Given the description of an element on the screen output the (x, y) to click on. 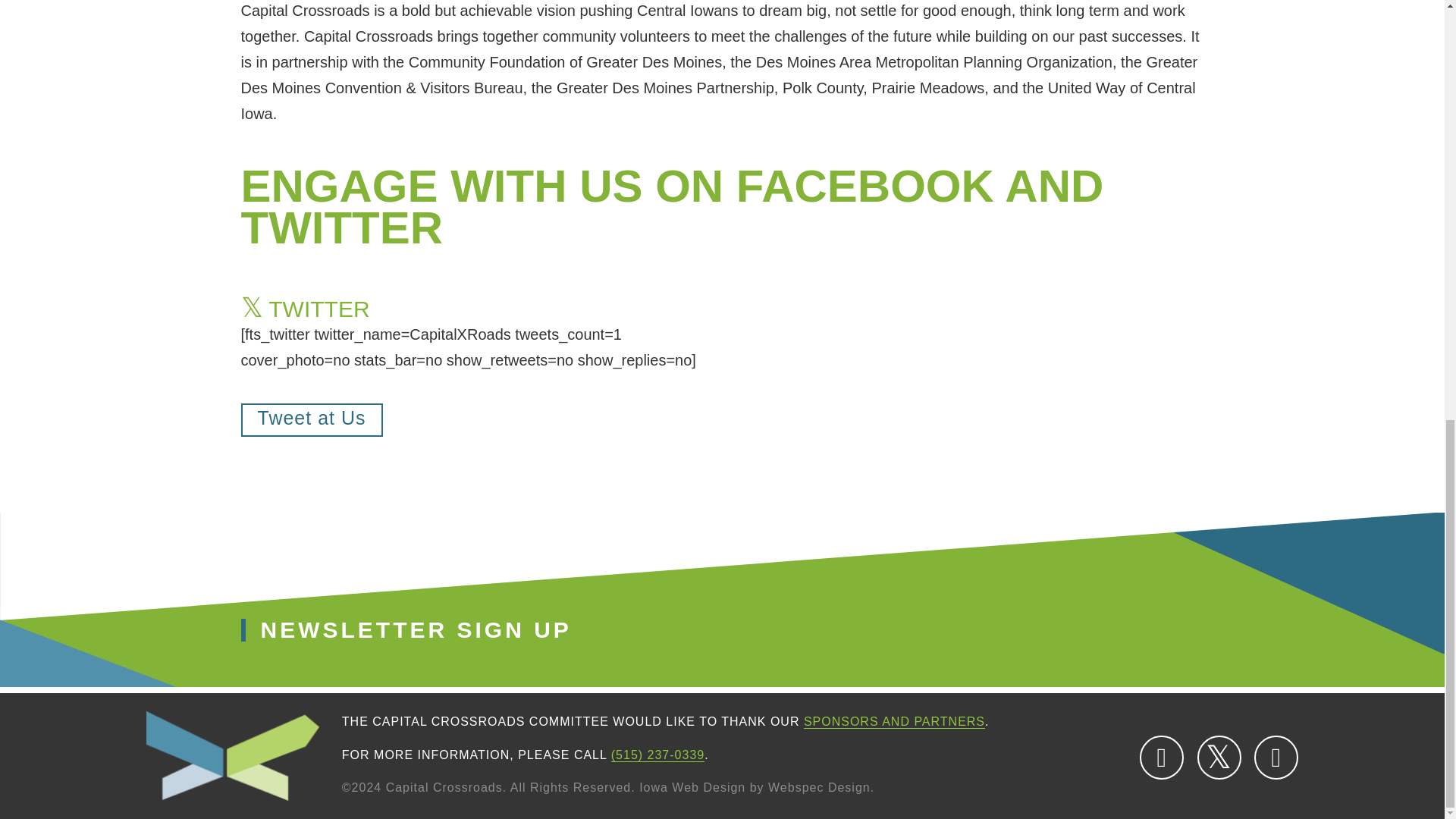
FACEBOOK (1161, 757)
Tweet at Us (311, 419)
SPONSORS AND PARTNERS (894, 721)
INSTAGRAM (1275, 757)
TWITTER (1218, 757)
Iowa Web Design (692, 787)
